Given the description of an element on the screen output the (x, y) to click on. 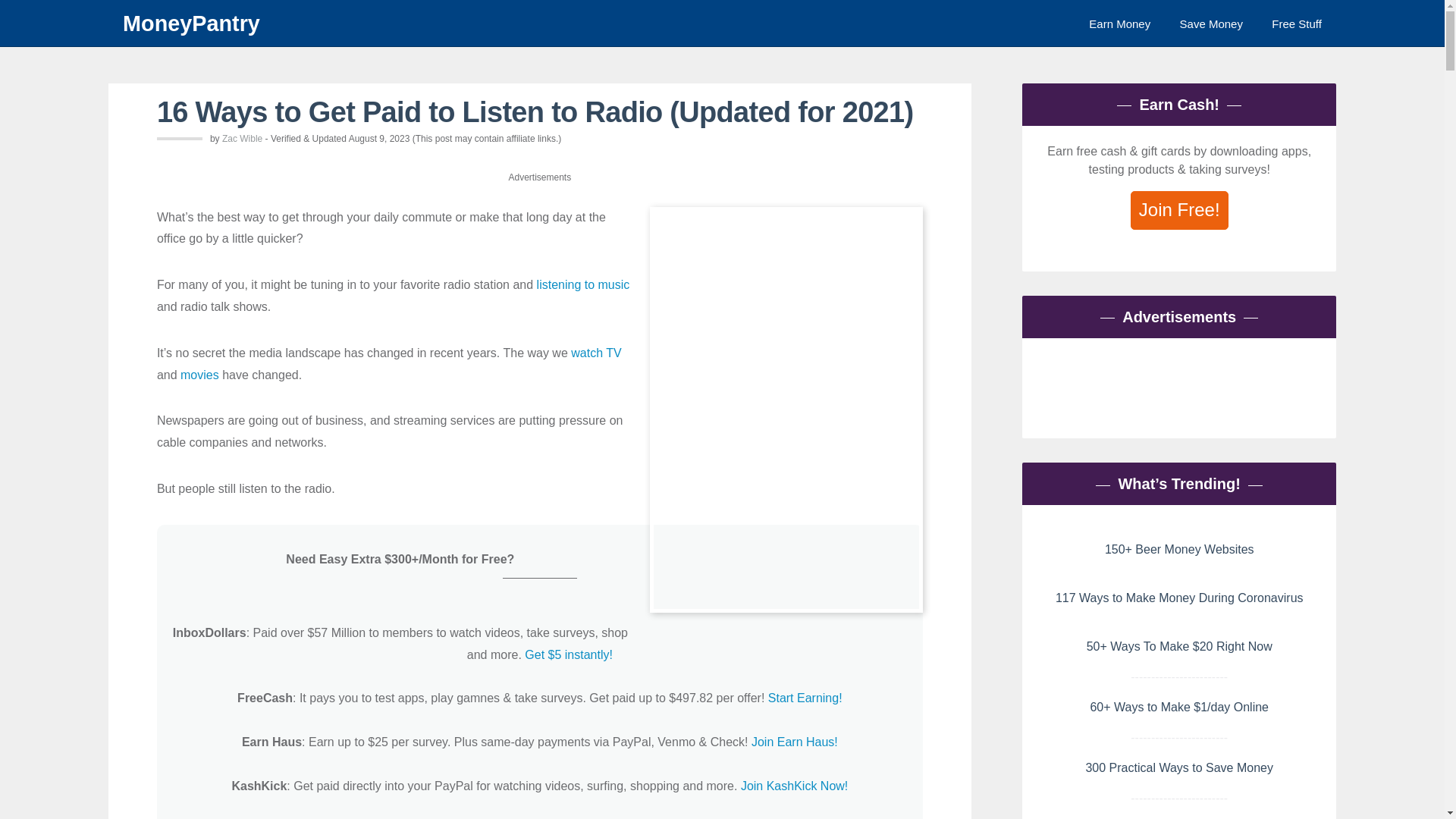
Save Money (1210, 22)
Start Earning! (805, 697)
listening to music (583, 284)
Join Earn Haus! (794, 741)
watch TV (595, 352)
movies (199, 374)
Zac Wible (242, 138)
MoneyPantry (482, 22)
Join KashKick Now! (794, 785)
Free Stuff (1296, 22)
